Given the description of an element on the screen output the (x, y) to click on. 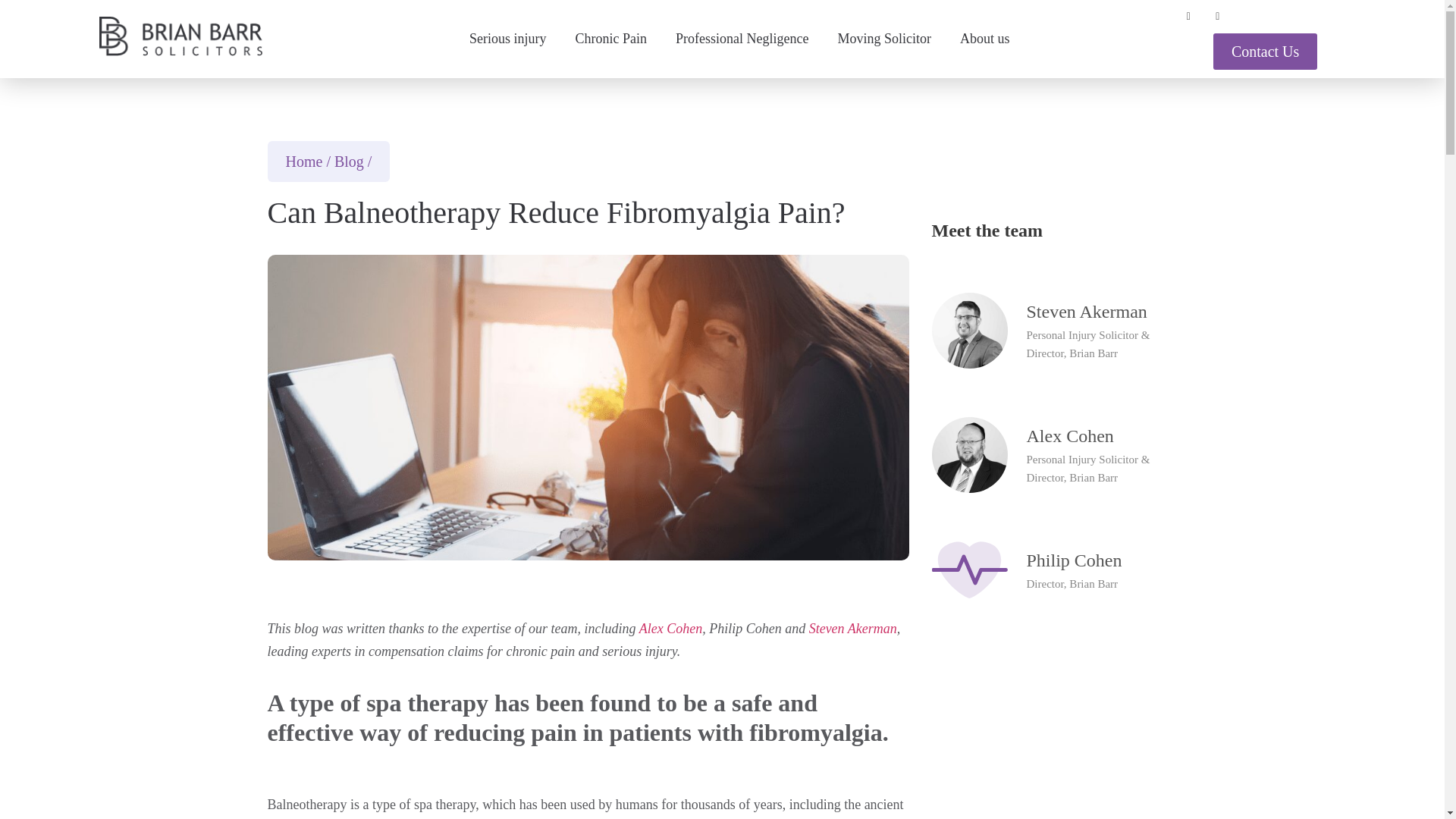
Moving Solicitor (885, 38)
Serious injury (507, 38)
Professional Negligence (741, 38)
About us (984, 38)
Chronic Pain (611, 38)
